Given the description of an element on the screen output the (x, y) to click on. 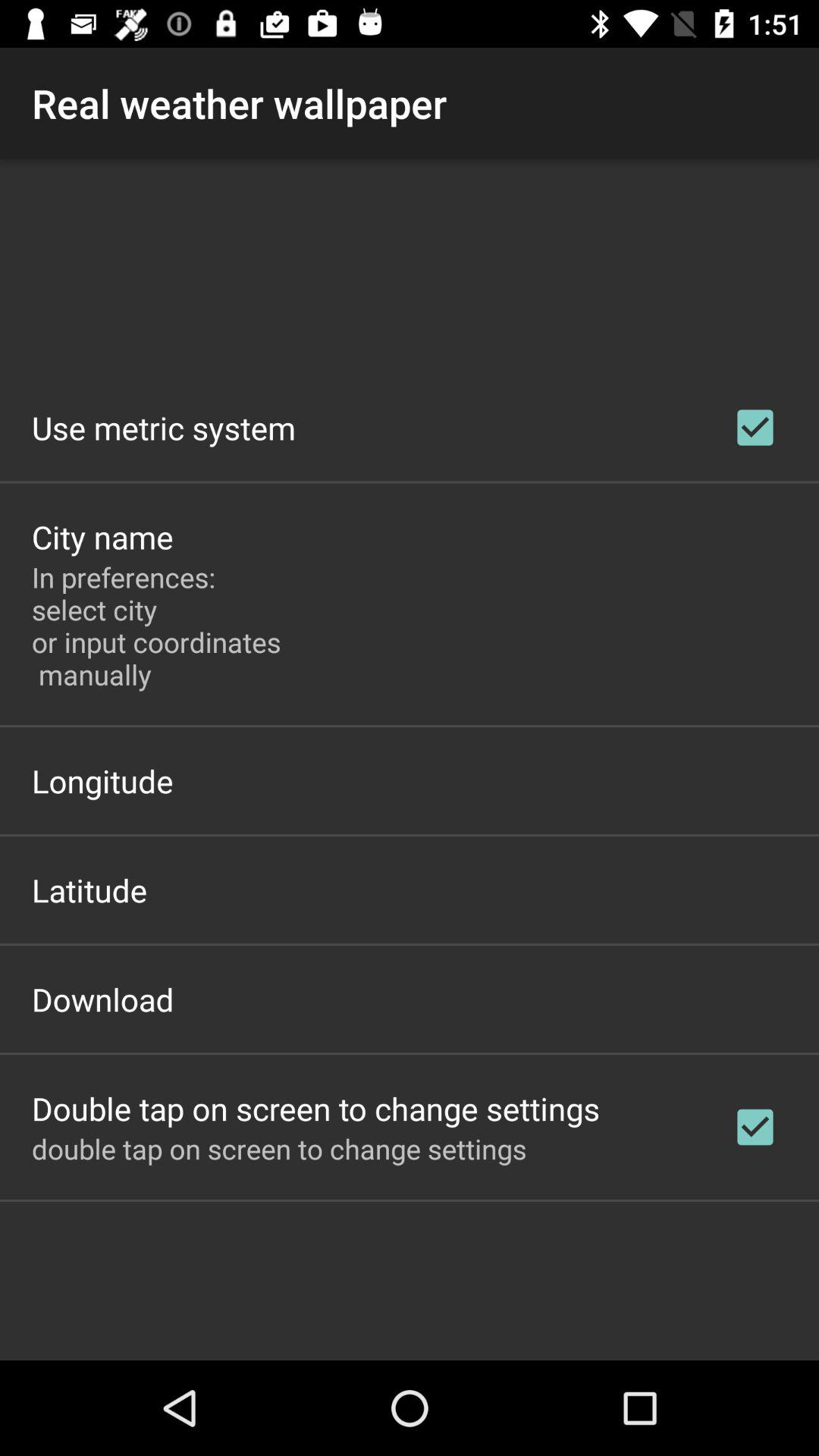
choose the use metric system item (163, 427)
